Given the description of an element on the screen output the (x, y) to click on. 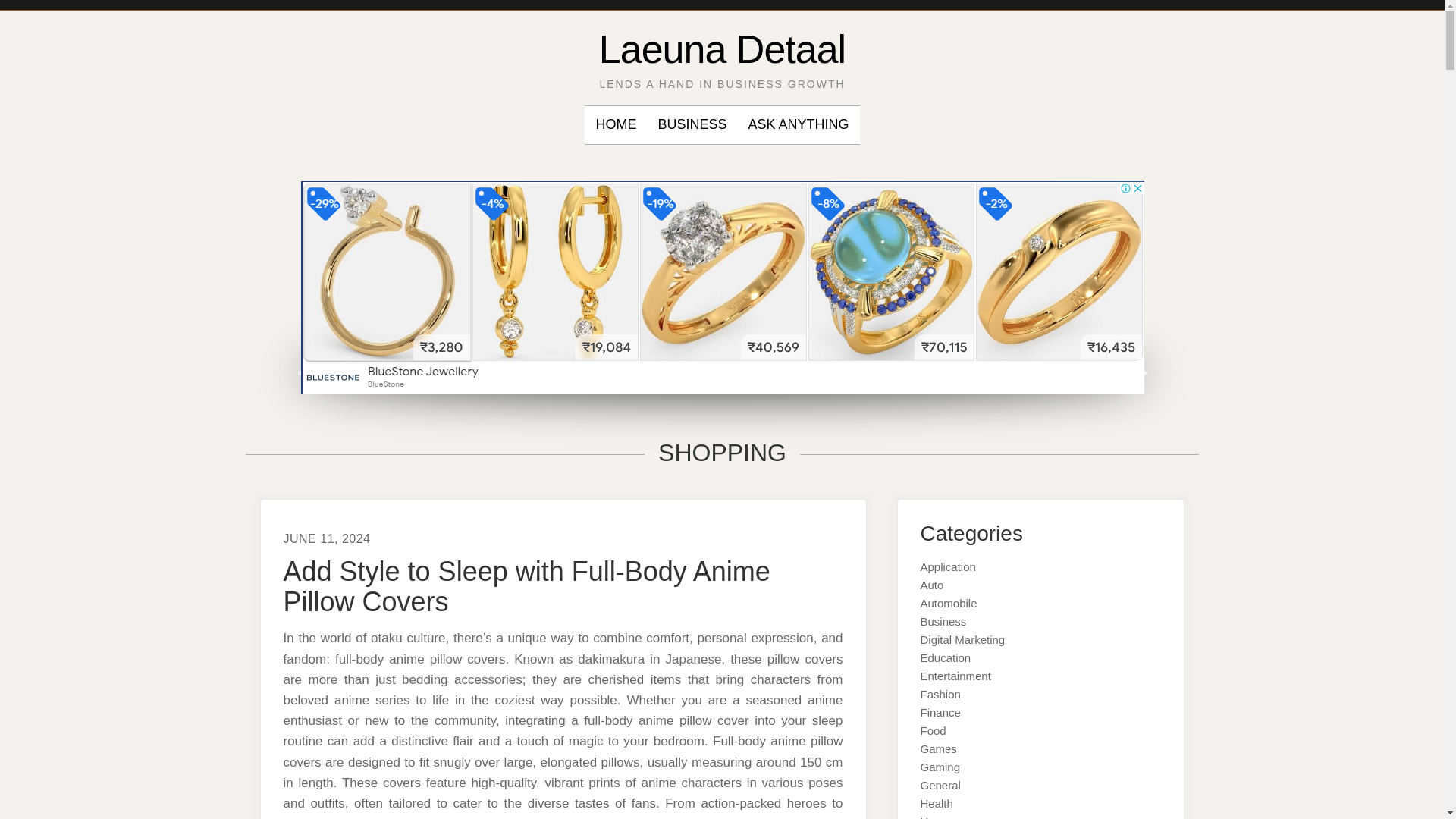
HOME (615, 125)
Add Style to Sleep with Full-Body Anime Pillow Covers (526, 586)
Laeuna Detaal (721, 49)
BUSINESS (692, 125)
JUNE 11, 2024 (327, 538)
ASK ANYTHING (798, 125)
Application (947, 566)
